Given the description of an element on the screen output the (x, y) to click on. 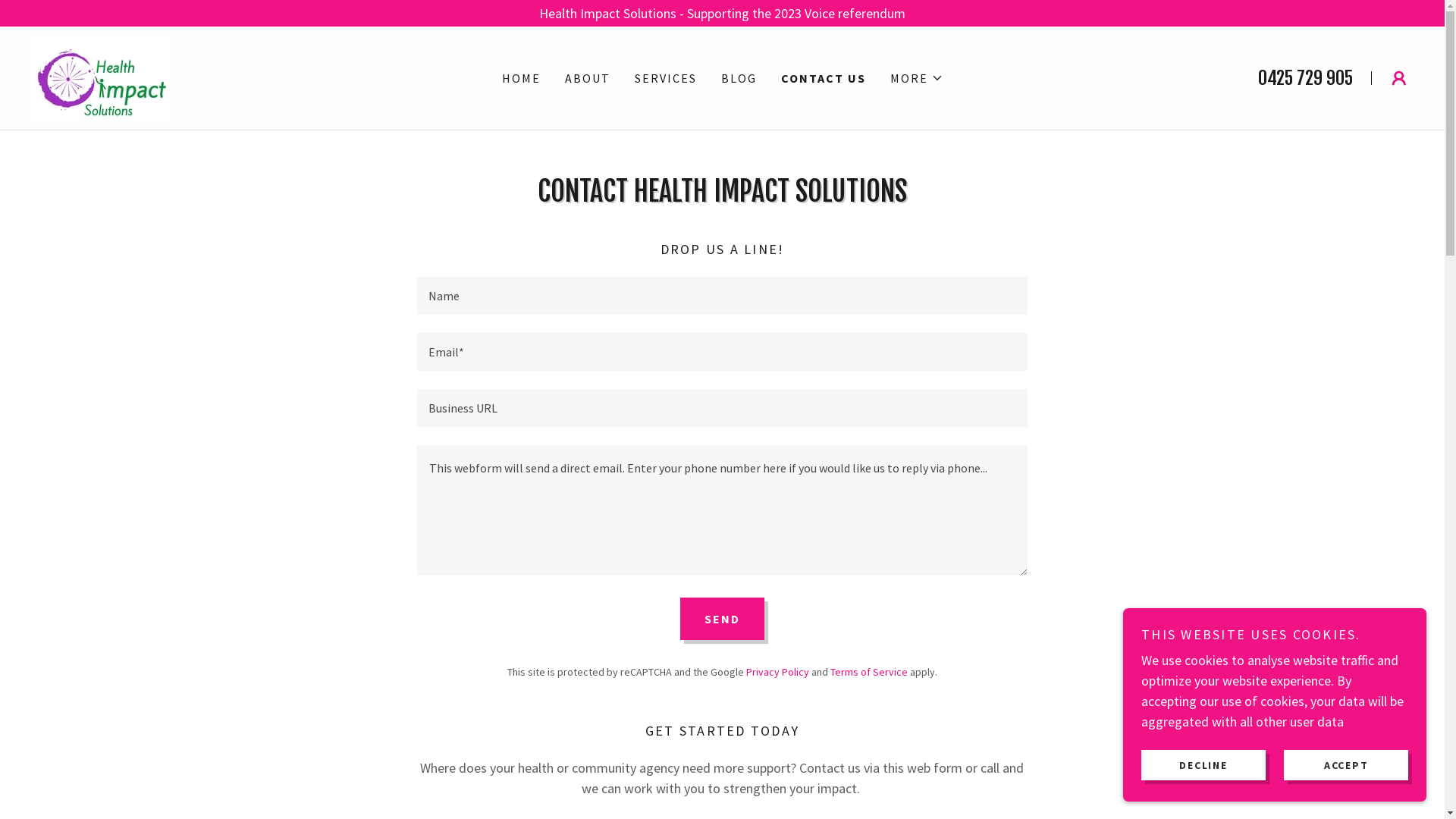
ABOUT Element type: text (586, 77)
HOME Element type: text (521, 77)
SERVICES Element type: text (664, 77)
Terms of Service Element type: text (868, 671)
SEND Element type: text (722, 618)
0425 729 905 Element type: text (1305, 77)
DECLINE Element type: text (1203, 764)
ACCEPT Element type: text (1345, 764)
Privacy Policy Element type: text (777, 671)
CONTACT US Element type: text (823, 78)
BLOG Element type: text (737, 77)
MORE Element type: text (916, 78)
